Given the description of an element on the screen output the (x, y) to click on. 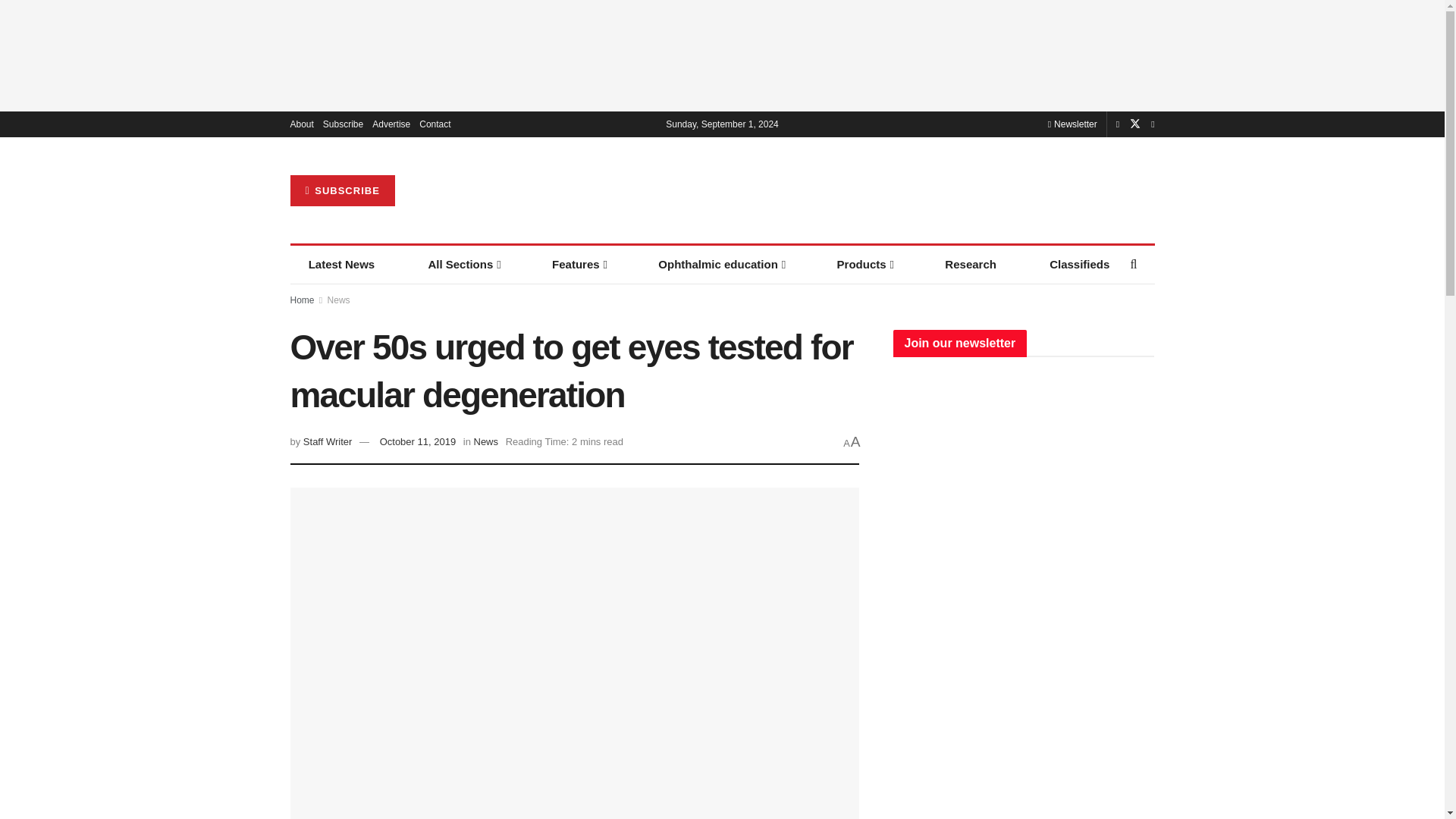
Contact (434, 124)
All Sections (462, 264)
SUBSCRIBE (341, 190)
Newsletter (1072, 123)
Subscribe (342, 124)
About (301, 124)
Latest News (341, 264)
Advertise (391, 124)
